Given the description of an element on the screen output the (x, y) to click on. 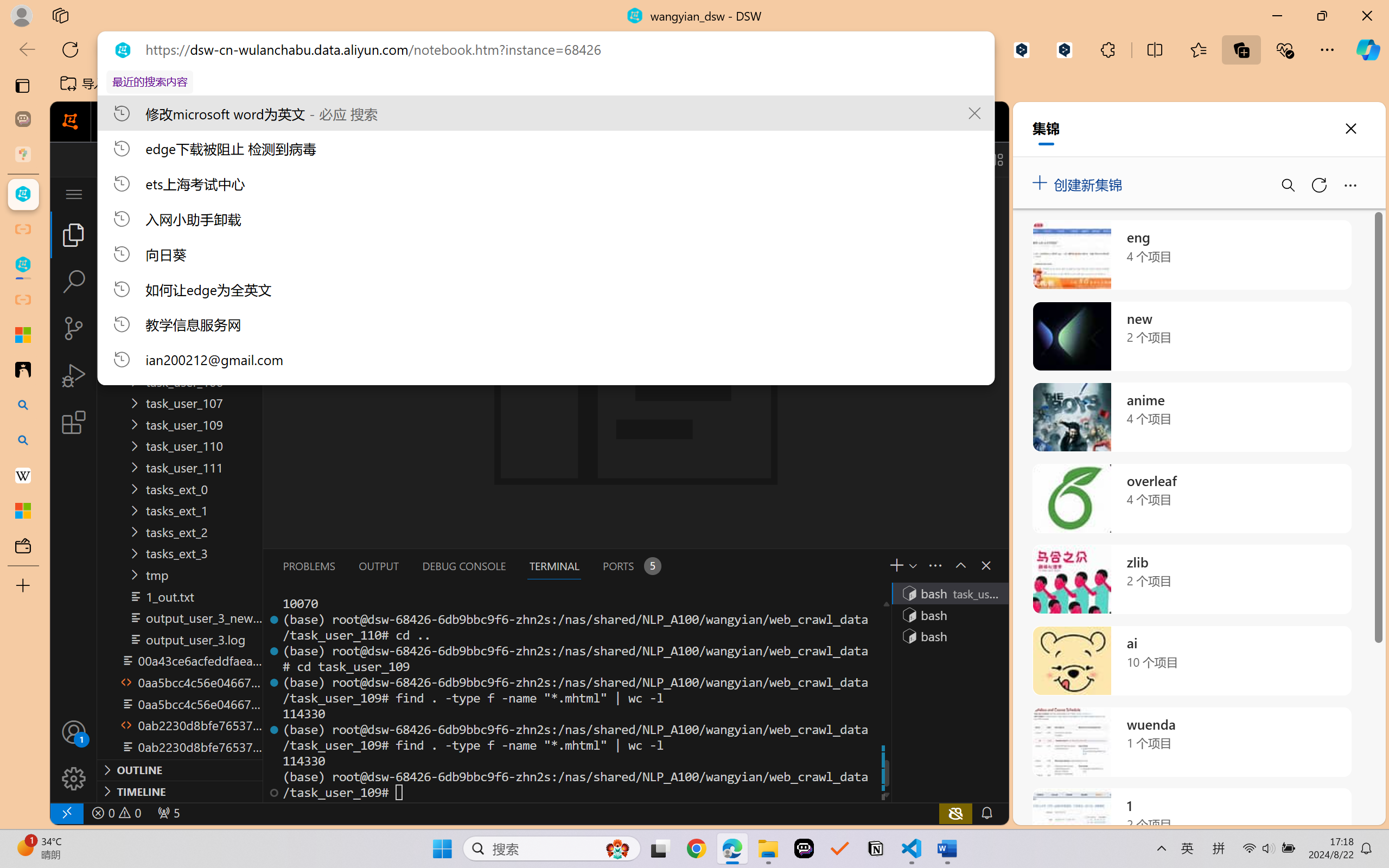
Terminal (Ctrl+`) (553, 565)
Forwarded Ports: 36301, 47065, 38781, 45817, 50331 (167, 812)
Views and More Actions... (934, 565)
Adjust indents and spacing - Microsoft Support (22, 334)
